Given the description of an element on the screen output the (x, y) to click on. 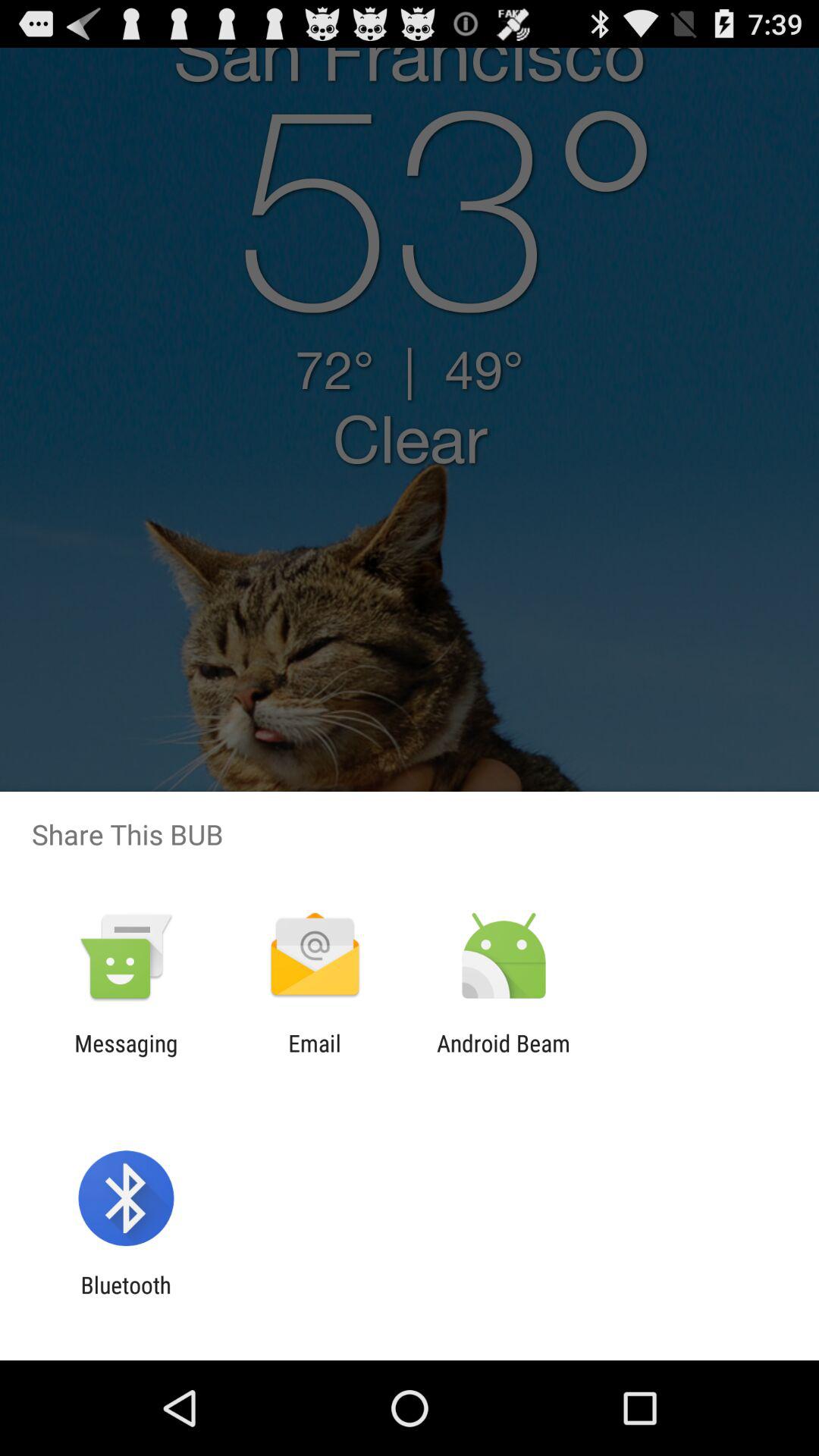
swipe to the android beam item (503, 1056)
